Given the description of an element on the screen output the (x, y) to click on. 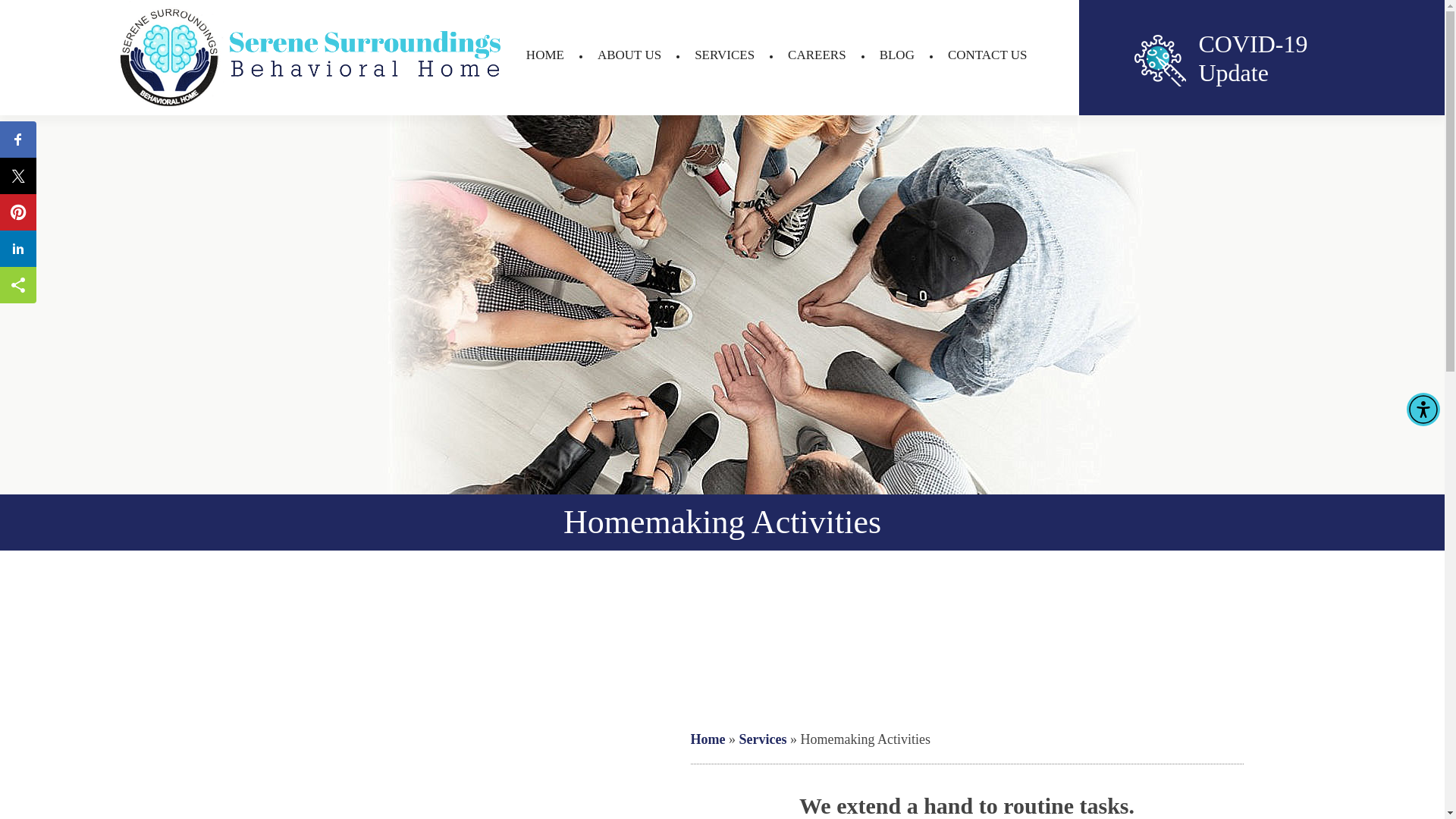
CONTACT US (987, 55)
Home (707, 739)
Services (762, 739)
Accessibility Menu (1422, 409)
CAREERS (816, 55)
HOME (544, 55)
ABOUT US (1204, 57)
BLOG (628, 55)
SERVICES (896, 55)
